Given the description of an element on the screen output the (x, y) to click on. 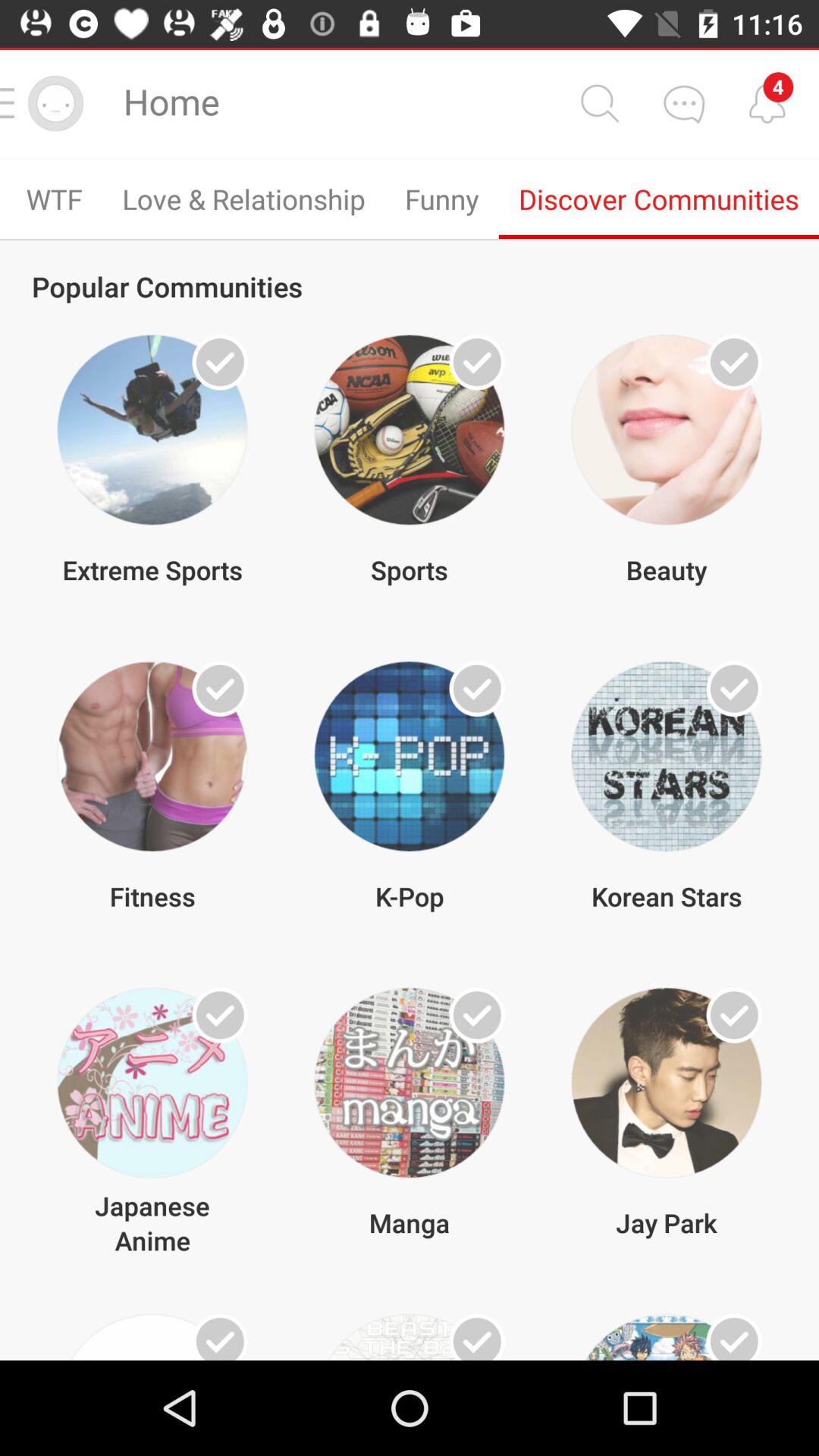
slect jay park (734, 1015)
